Given the description of an element on the screen output the (x, y) to click on. 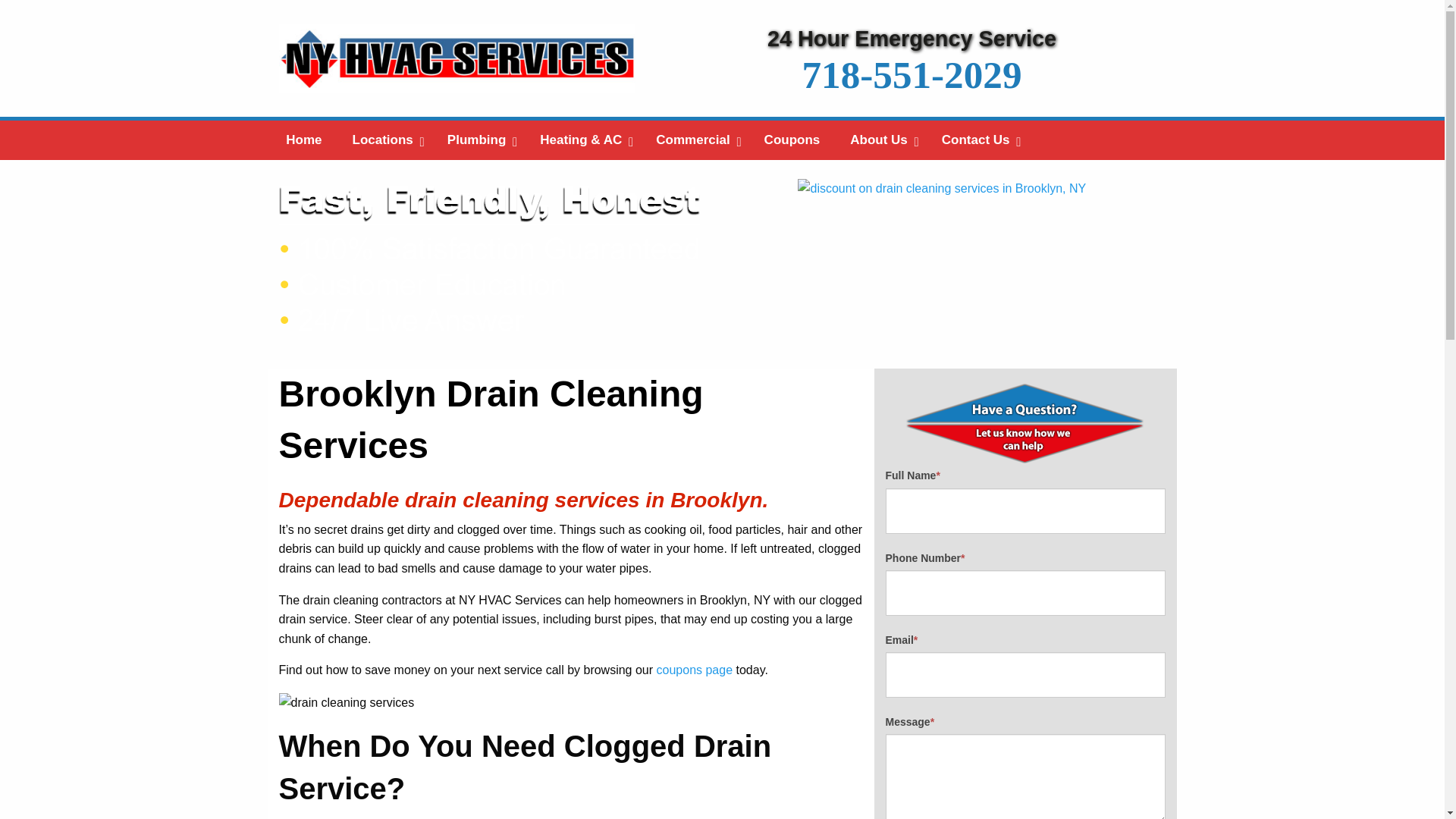
Contact Us (977, 139)
Home (303, 139)
coupons page (694, 669)
Locations (384, 139)
Coupons (792, 139)
About Us (880, 139)
Plumbing (478, 139)
Commercial (694, 139)
